Given the description of an element on the screen output the (x, y) to click on. 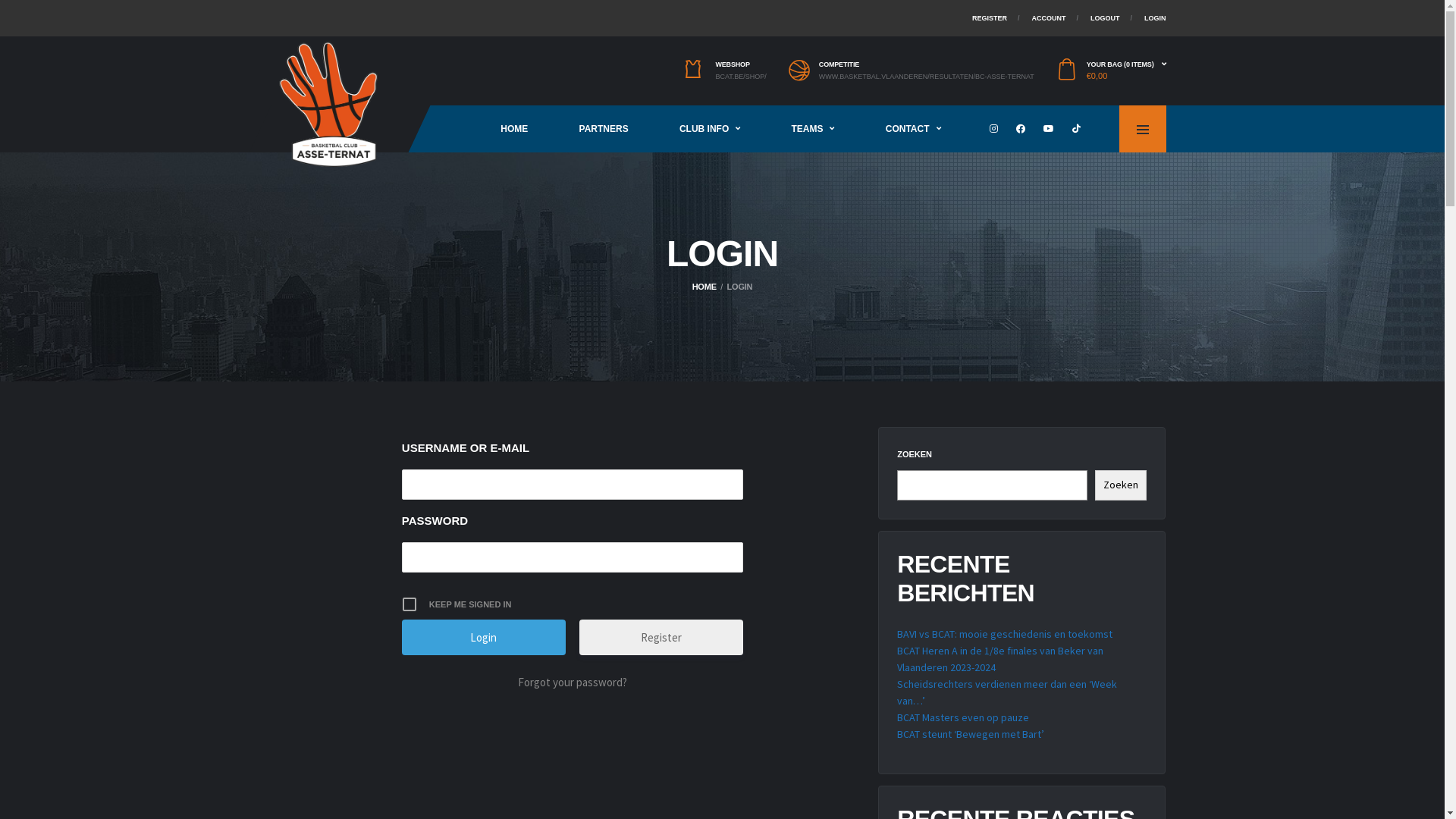
BAVI vs BCAT: mooie geschiedenis en toekomst Element type: text (1004, 633)
TEAMS Element type: text (812, 128)
BCAT.BE/SHOP/ Element type: text (740, 76)
WWW.BASKETBAL.VLAANDEREN/RESULTATEN/BC-ASSE-TERNAT Element type: text (926, 76)
Forgot your password? Element type: text (572, 682)
Login Element type: text (483, 637)
CONTACT Element type: text (912, 128)
BCAT Masters even op pauze Element type: text (963, 717)
PARTNERS Element type: text (603, 128)
LOGOUT Element type: text (1105, 18)
Register Element type: text (661, 637)
ACCOUNT Element type: text (1048, 18)
CLUB INFO Element type: text (709, 128)
LOGIN Element type: text (1155, 18)
REGISTER Element type: text (989, 18)
Zoeken Element type: text (1120, 485)
HOME Element type: text (513, 128)
HOME Element type: text (704, 286)
